Given the description of an element on the screen output the (x, y) to click on. 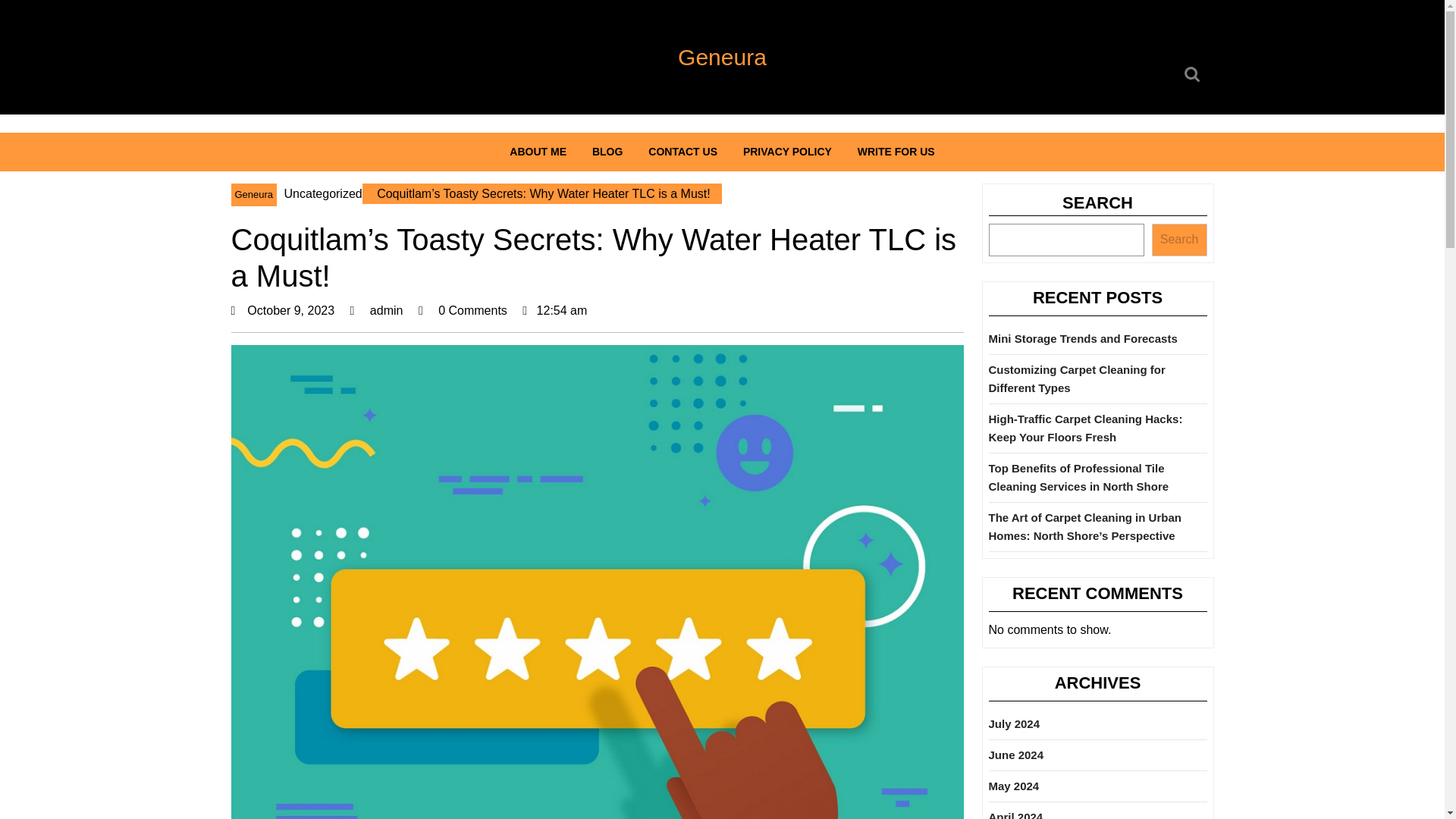
Geneura (253, 194)
Search (1193, 73)
Mini Storage Trends and Forecasts (1082, 338)
April 2024 (1015, 814)
High-Traffic Carpet Cleaning Hacks: Keep Your Floors Fresh (293, 309)
ABOUT ME (1085, 427)
Search (537, 151)
Search (1193, 73)
May 2024 (1179, 239)
Customizing Carpet Cleaning for Different Types (386, 309)
Search (1013, 785)
BLOG (1077, 378)
